Given the description of an element on the screen output the (x, y) to click on. 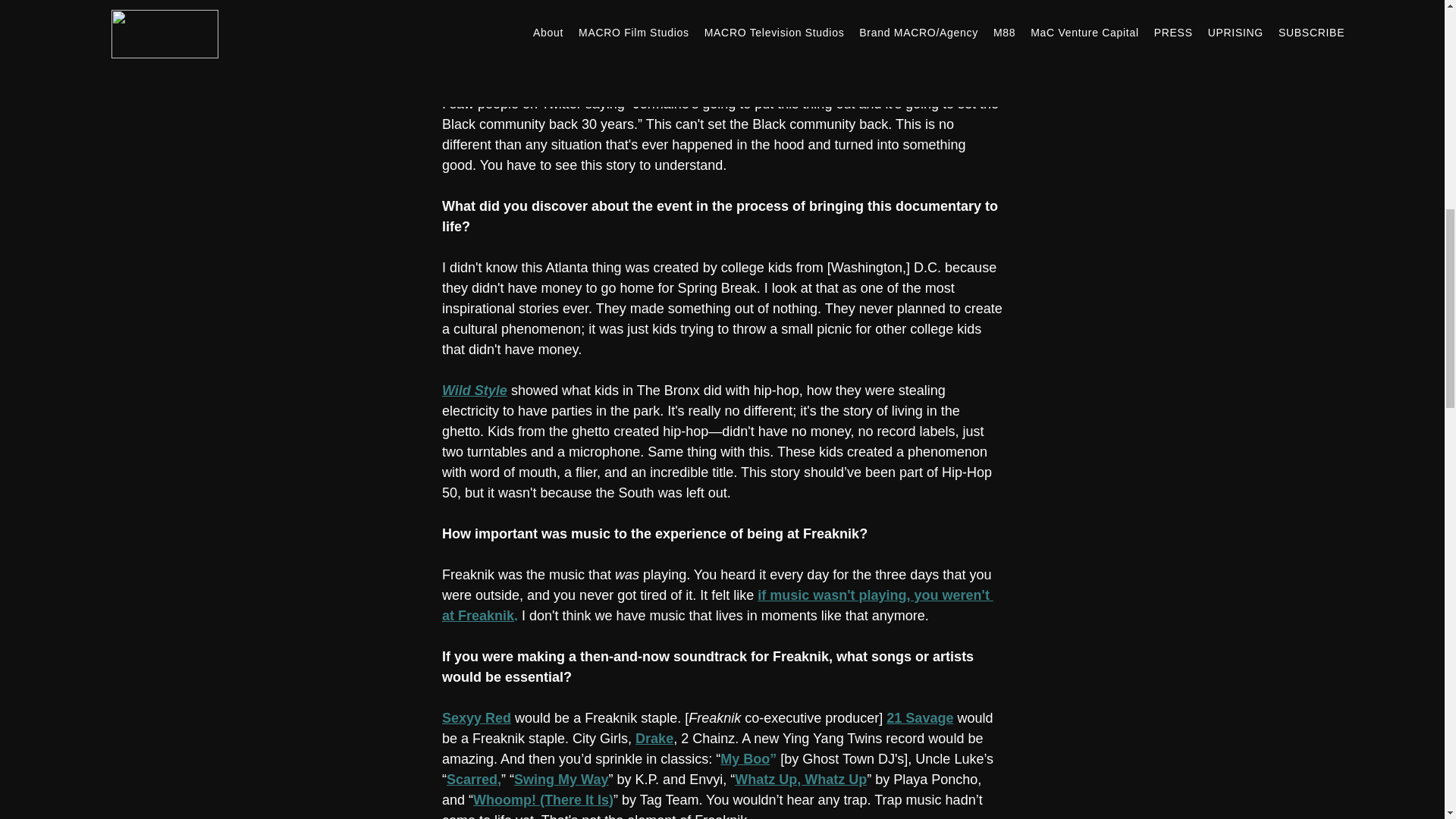
How (455, 533)
parents (686, 62)
Wild Style (473, 390)
Sexyy Red (476, 717)
if music wasn't playing, you weren't at Freaknik (716, 605)
